Given the description of an element on the screen output the (x, y) to click on. 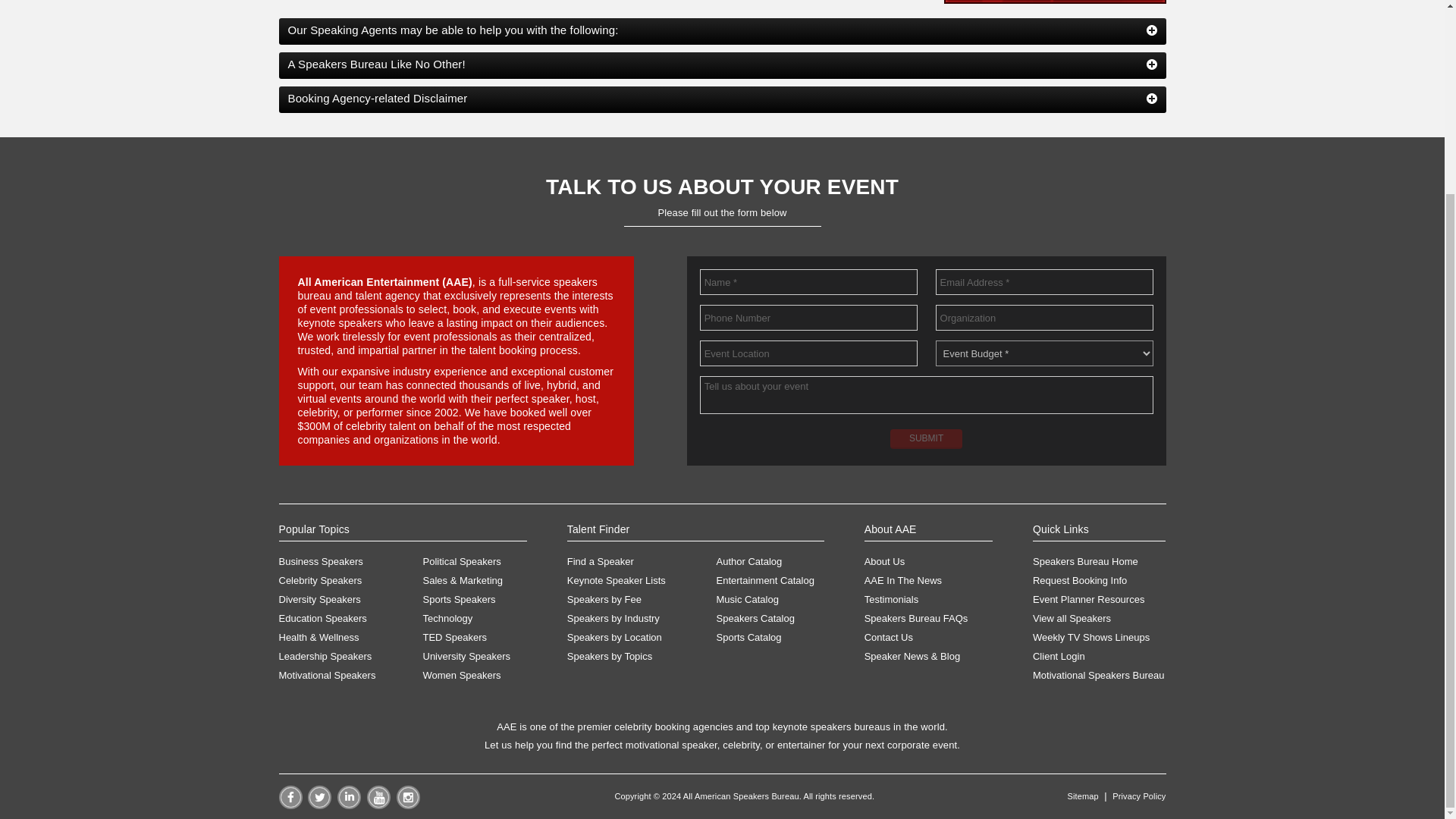
SUBMIT (925, 438)
Facebook (290, 805)
You Tube (378, 805)
Instagram (407, 805)
Linkedin (349, 805)
Twitter (319, 805)
